Given the description of an element on the screen output the (x, y) to click on. 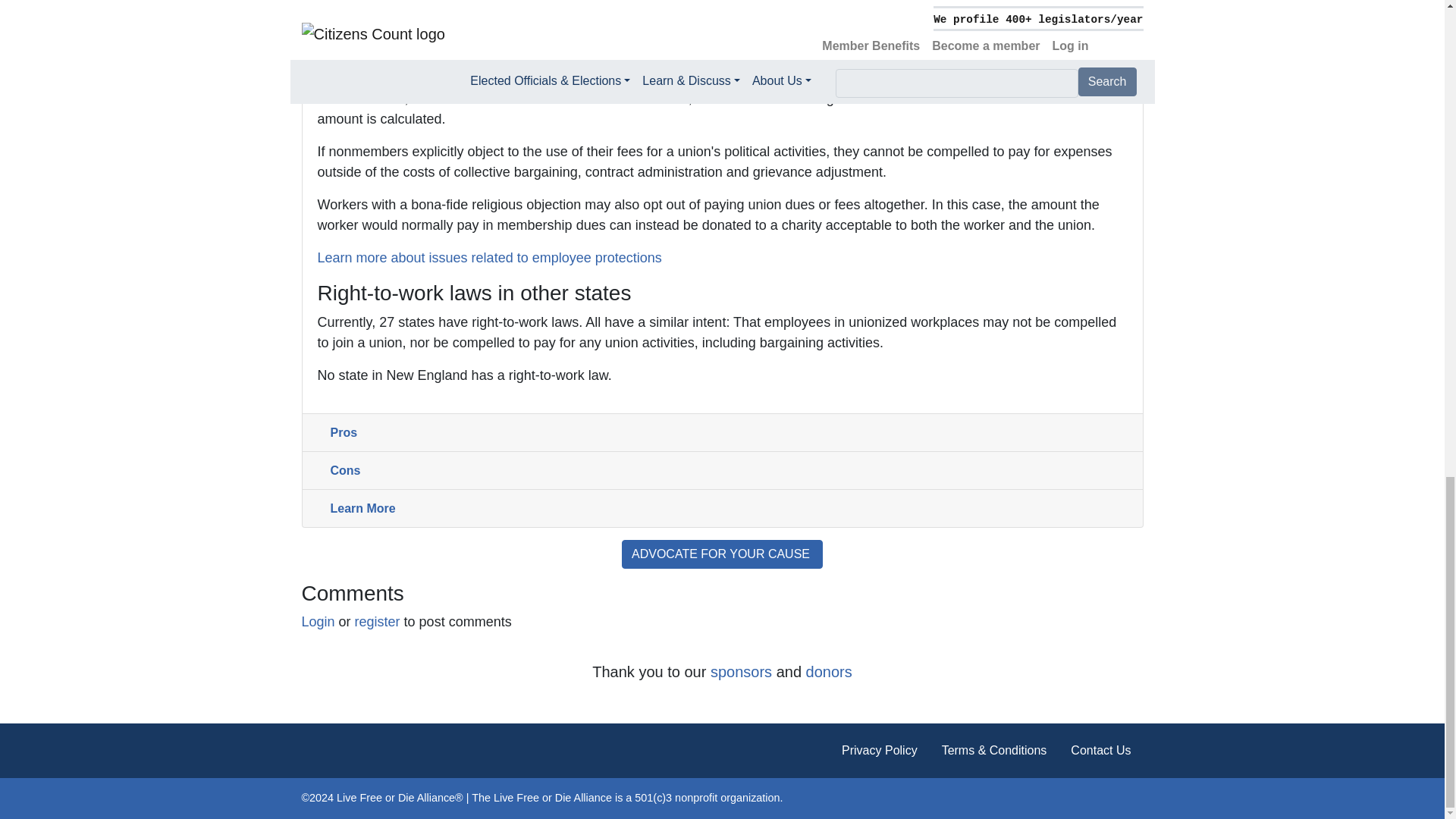
Visit us on Instagram (1130, 798)
Visit us on Reddit (1106, 798)
Visit our Facebook page (1058, 798)
